Given the description of an element on the screen output the (x, y) to click on. 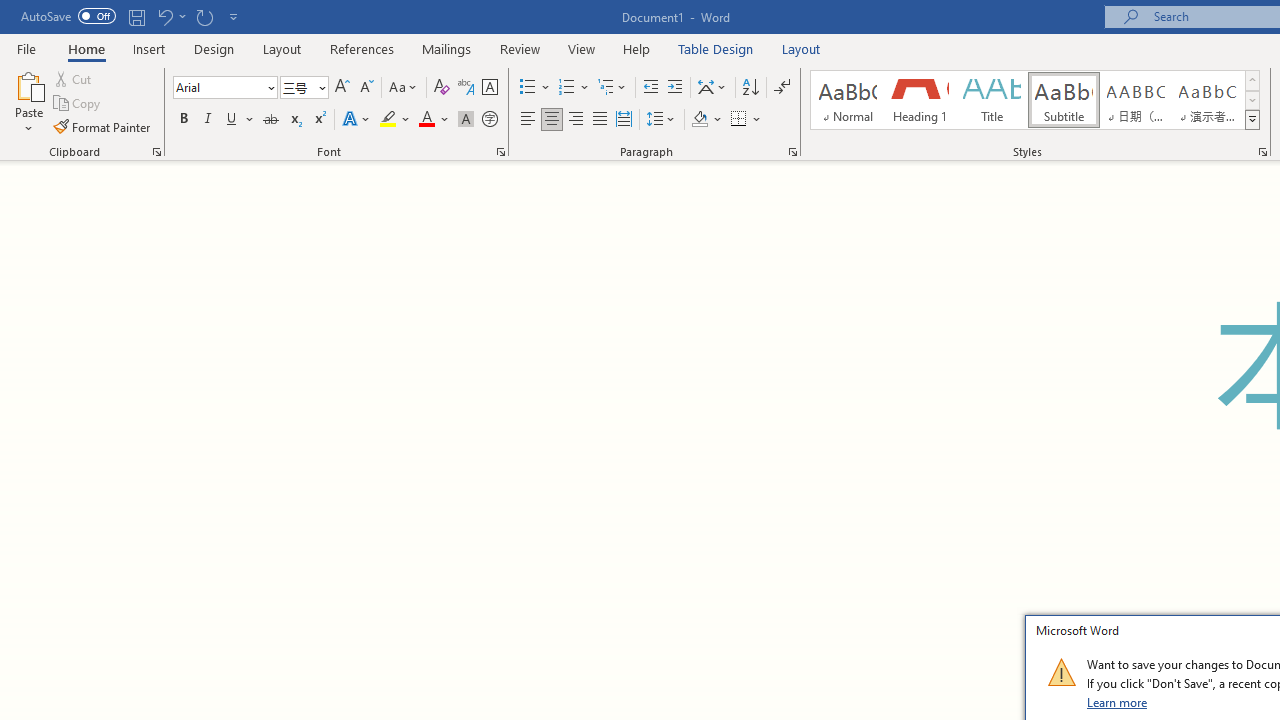
Undo Paste (170, 15)
